Given the description of an element on the screen output the (x, y) to click on. 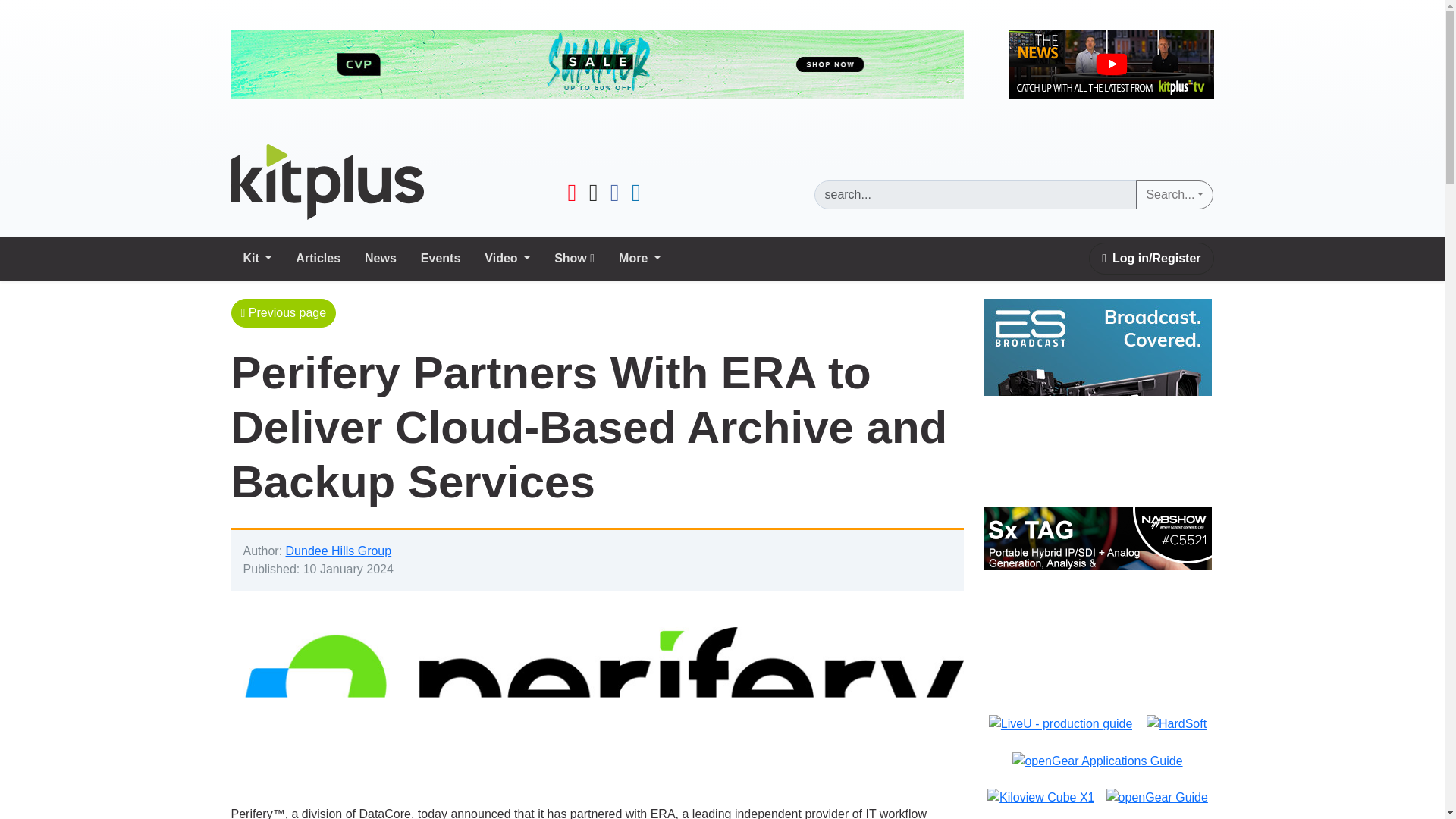
Video (506, 258)
News (380, 258)
More (639, 258)
Articles (317, 258)
Kit (256, 258)
Search... (1173, 194)
Show (574, 258)
Events (440, 258)
